Given the description of an element on the screen output the (x, y) to click on. 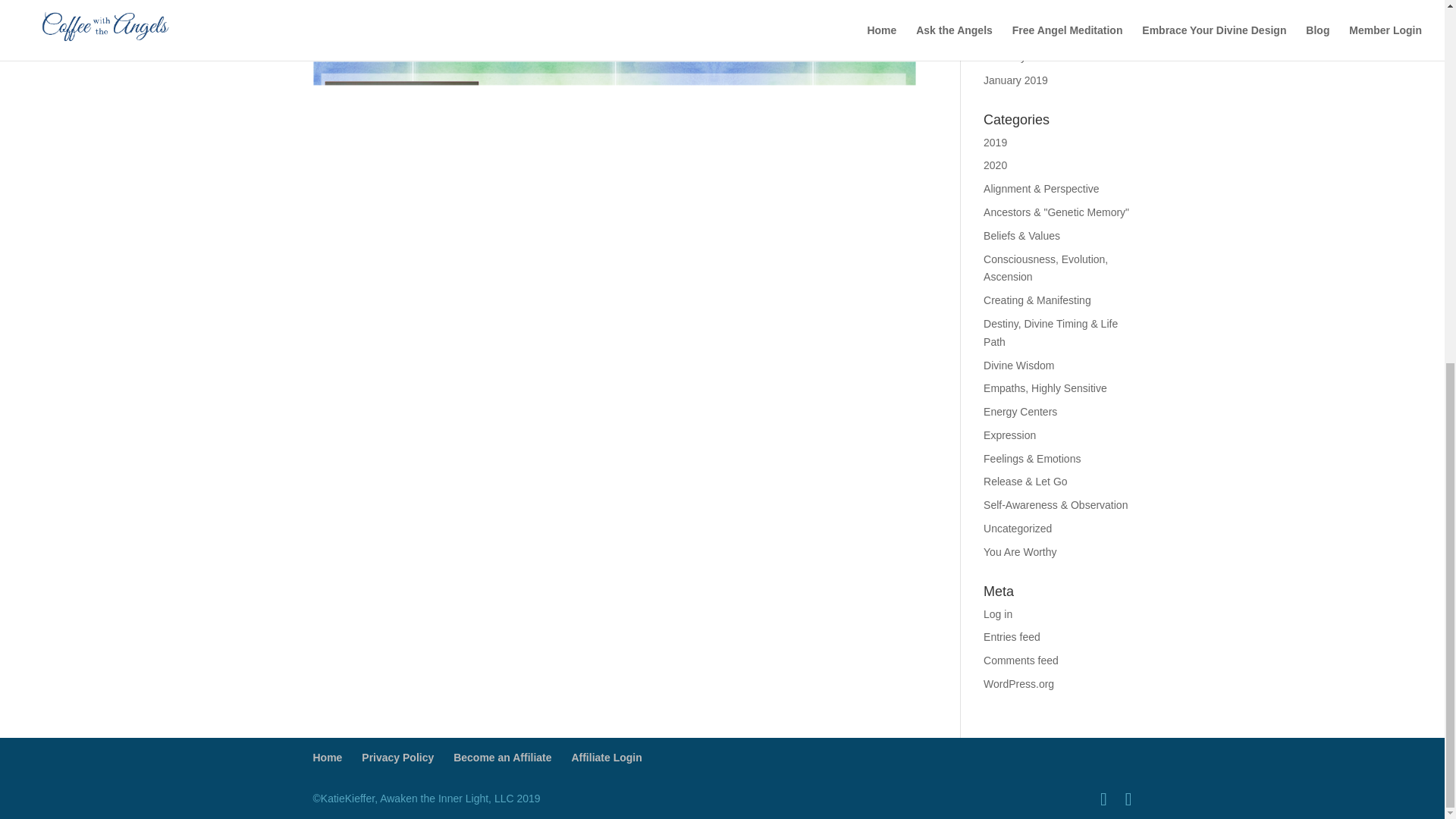
2019 (995, 142)
April 2019 (1007, 9)
2020 (995, 164)
March 2019 (1011, 33)
January 2019 (1016, 80)
February 2019 (1018, 56)
